Given the description of an element on the screen output the (x, y) to click on. 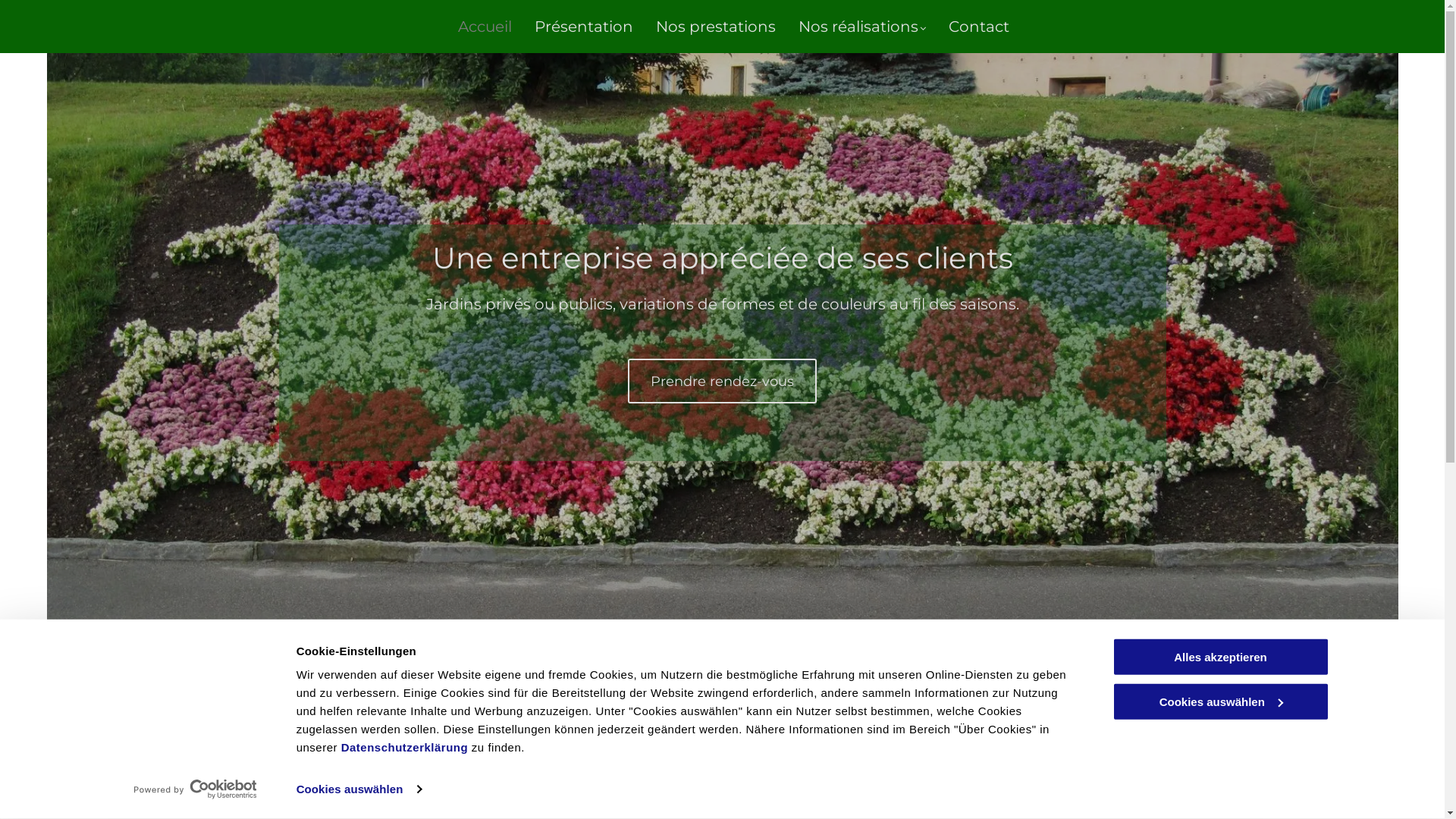
Plus d'informations Element type: text (721, 754)
Contact Element type: text (967, 26)
Alles akzeptieren Element type: text (1219, 656)
Nos prestations Element type: text (704, 26)
Plus d'informations Element type: text (1017, 754)
Plus d'informations Element type: text (425, 754)
Accueil Element type: text (473, 26)
